Given the description of an element on the screen output the (x, y) to click on. 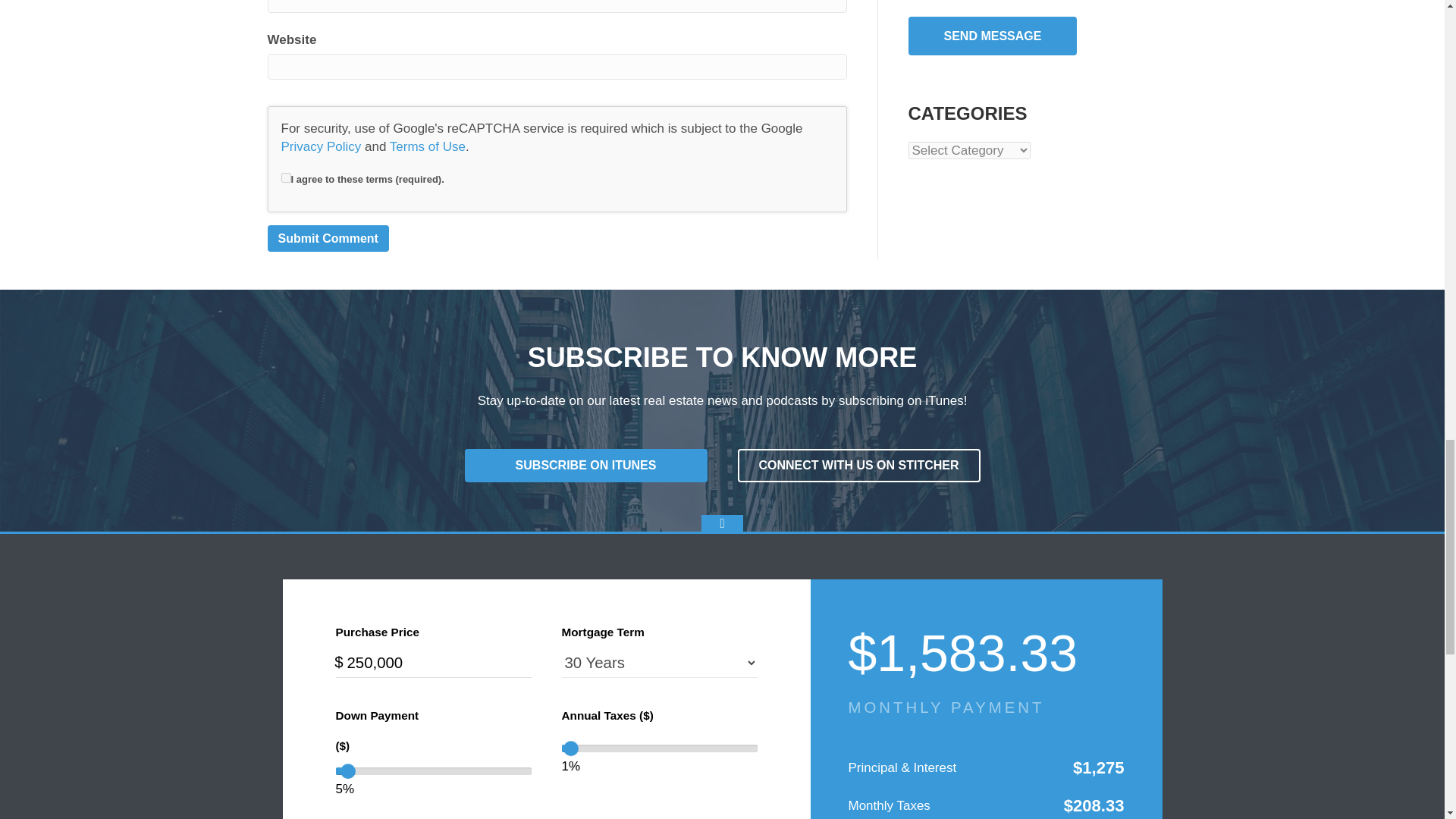
SEND MESSAGE (992, 35)
Submit Comment (327, 238)
on (285, 177)
250,000 (432, 662)
